Given the description of an element on the screen output the (x, y) to click on. 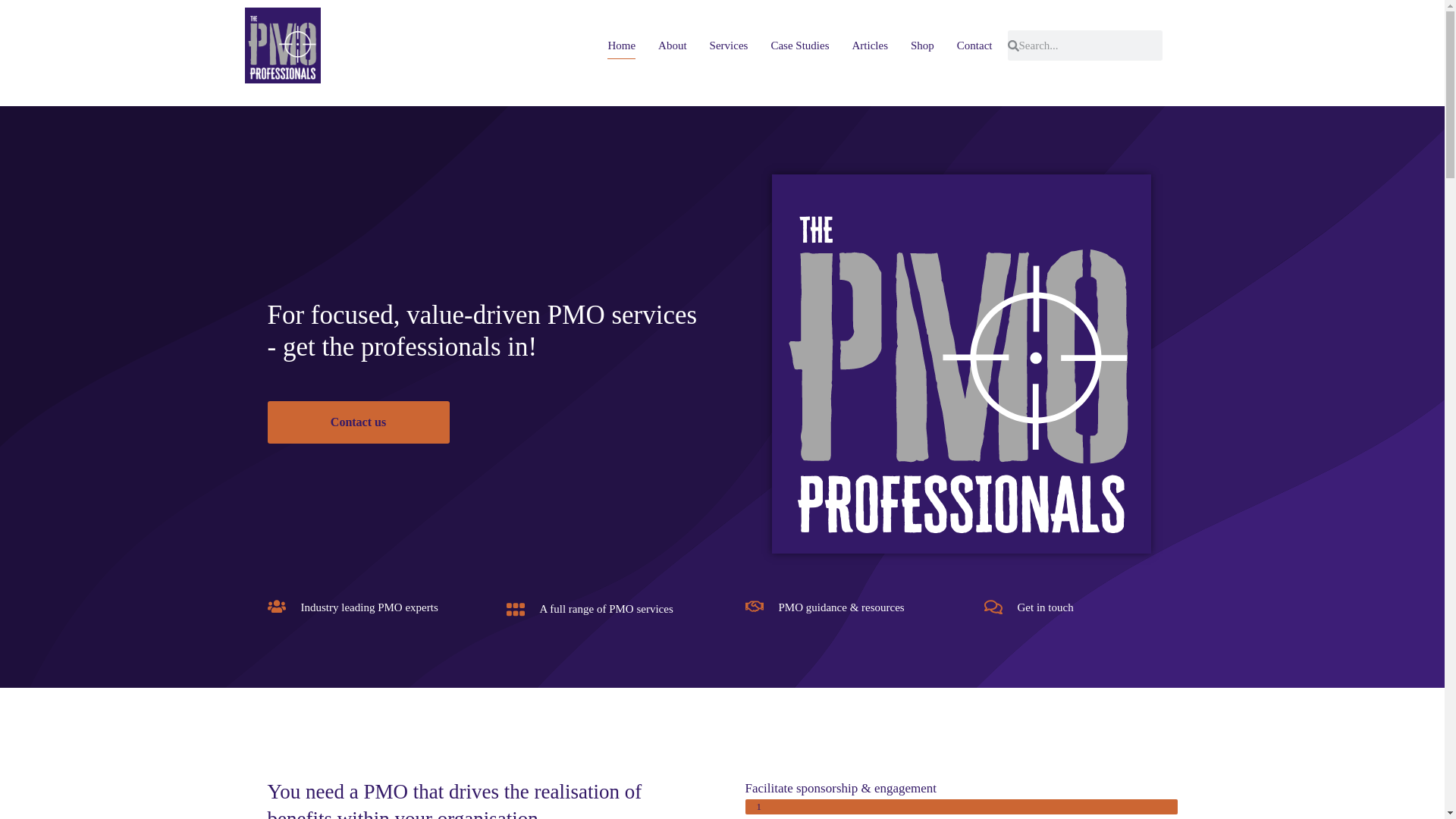
Case Studies (799, 44)
Articles (869, 44)
Industry leading PMO experts (368, 607)
Get in touch (1045, 607)
Contact (974, 44)
A full range of PMO services (606, 608)
Services (729, 44)
About (672, 44)
Home (620, 44)
Contact us (357, 422)
